Given the description of an element on the screen output the (x, y) to click on. 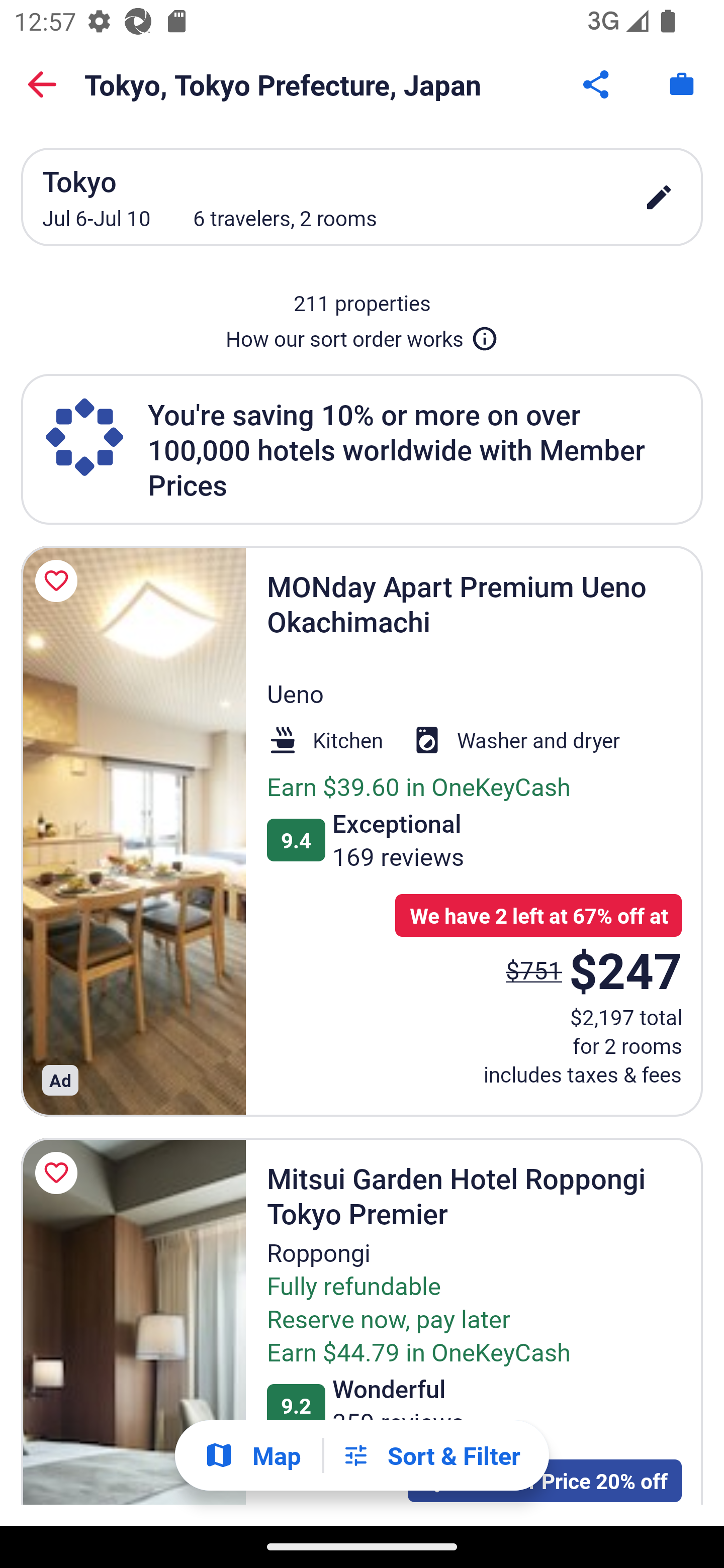
Back (42, 84)
Share Button (597, 84)
Trips. Button (681, 84)
Tokyo Jul 6-Jul 10 6 travelers, 2 rooms edit (361, 196)
How our sort order works (361, 334)
MONday Apart Premium Ueno Okachimachi (133, 830)
$751 The price was $751 (533, 970)
Mitsui Garden Hotel Roppongi Tokyo Premier (133, 1321)
Filters Sort & Filter Filters Button (430, 1455)
Show map Map Show map Button (252, 1455)
